Given the description of an element on the screen output the (x, y) to click on. 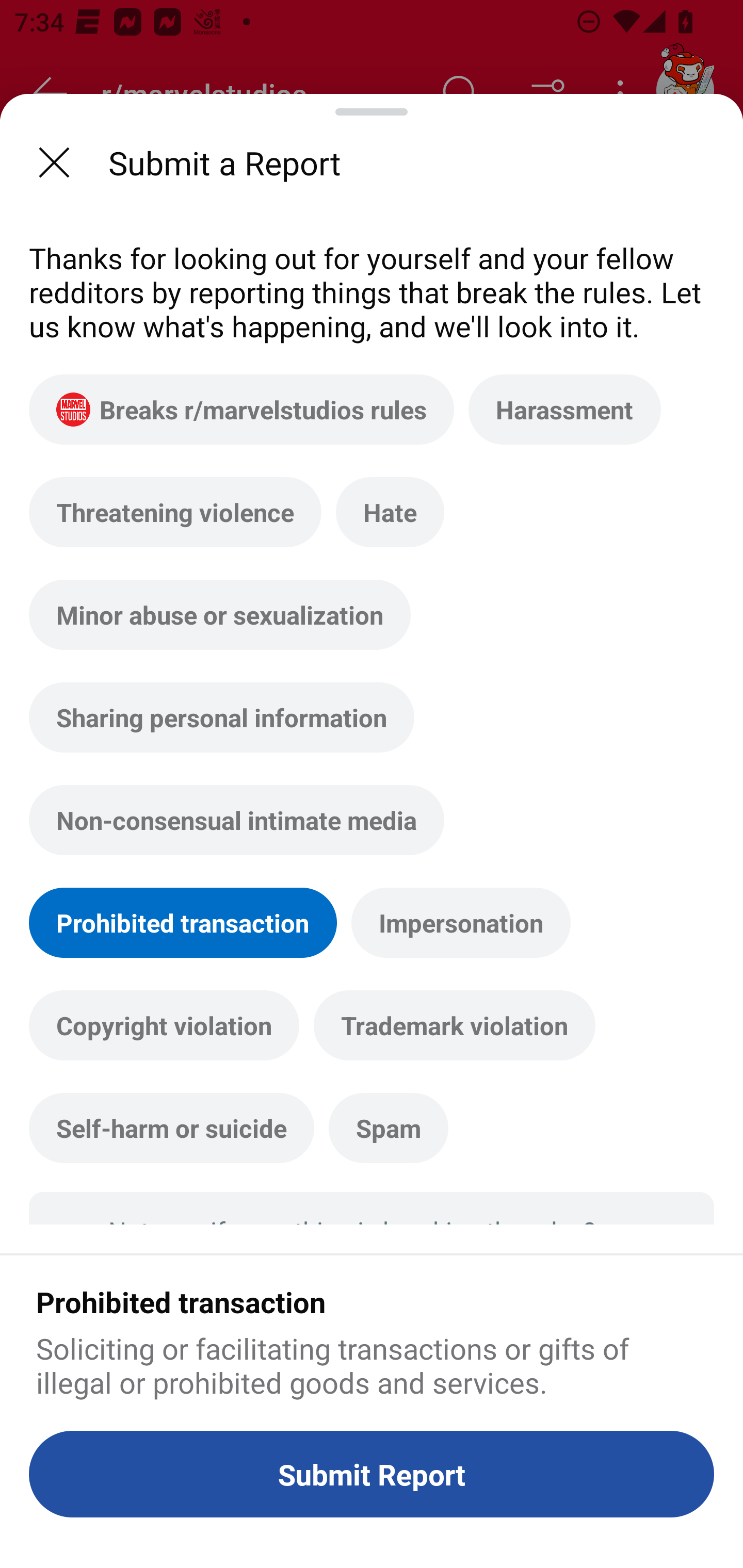
Close (53, 162)
Harassment (564, 409)
Threatening violence (174, 511)
Hate (389, 511)
Minor abuse or sexualization (219, 614)
Sharing personal information (221, 717)
Non-consensual intimate media (236, 819)
Prohibited transaction (182, 922)
Impersonation (460, 922)
Copyright violation (163, 1024)
Trademark violation (454, 1024)
Self-harm or suicide (171, 1127)
Spam (388, 1127)
Submit Report (371, 1473)
